Given the description of an element on the screen output the (x, y) to click on. 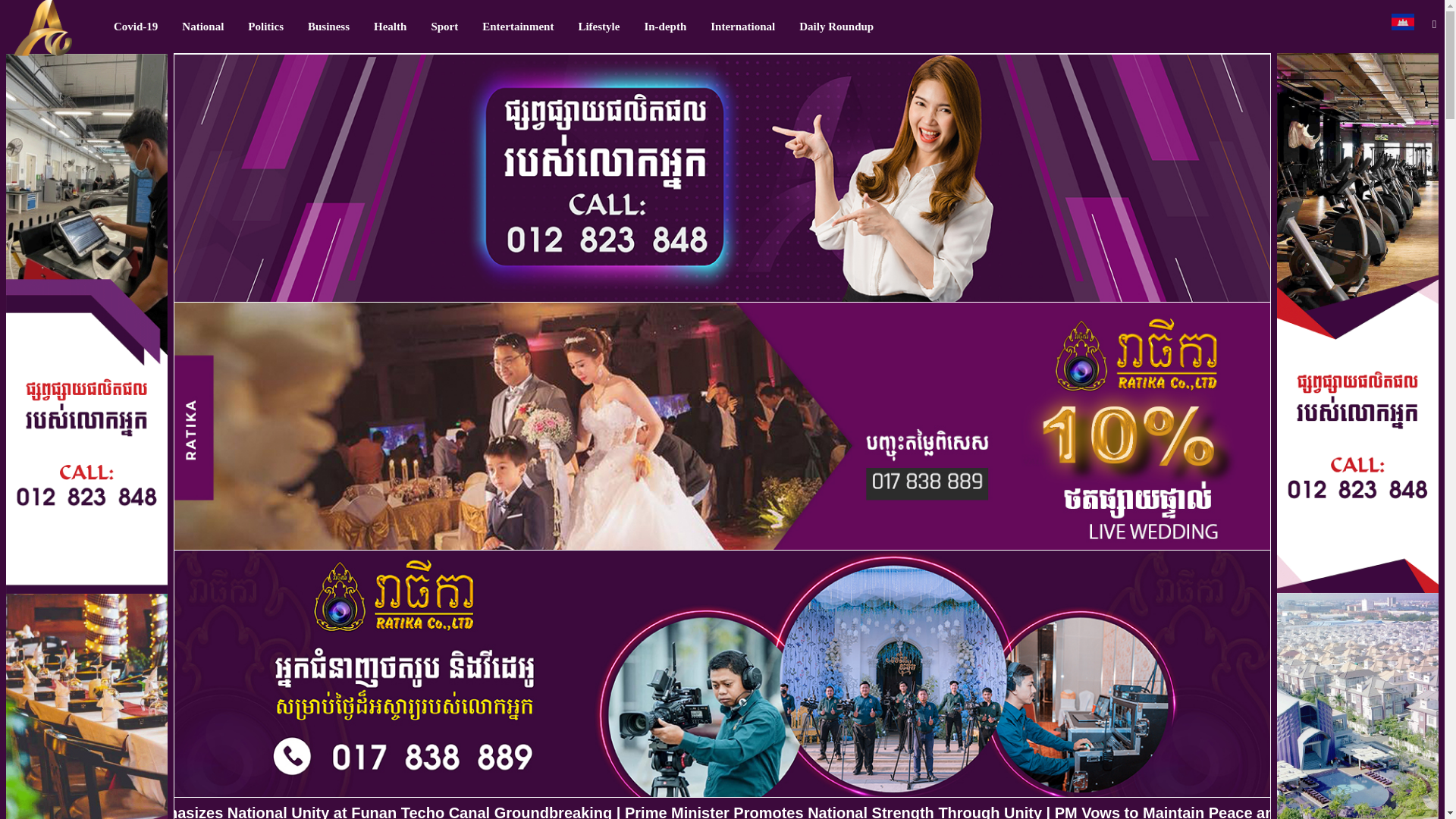
Business (328, 27)
Politics (265, 27)
Sport (444, 27)
Lifestyle (598, 27)
National (202, 27)
Health (390, 27)
Covid-19 (135, 27)
Entertainment (518, 27)
In-depth (664, 27)
